Given the description of an element on the screen output the (x, y) to click on. 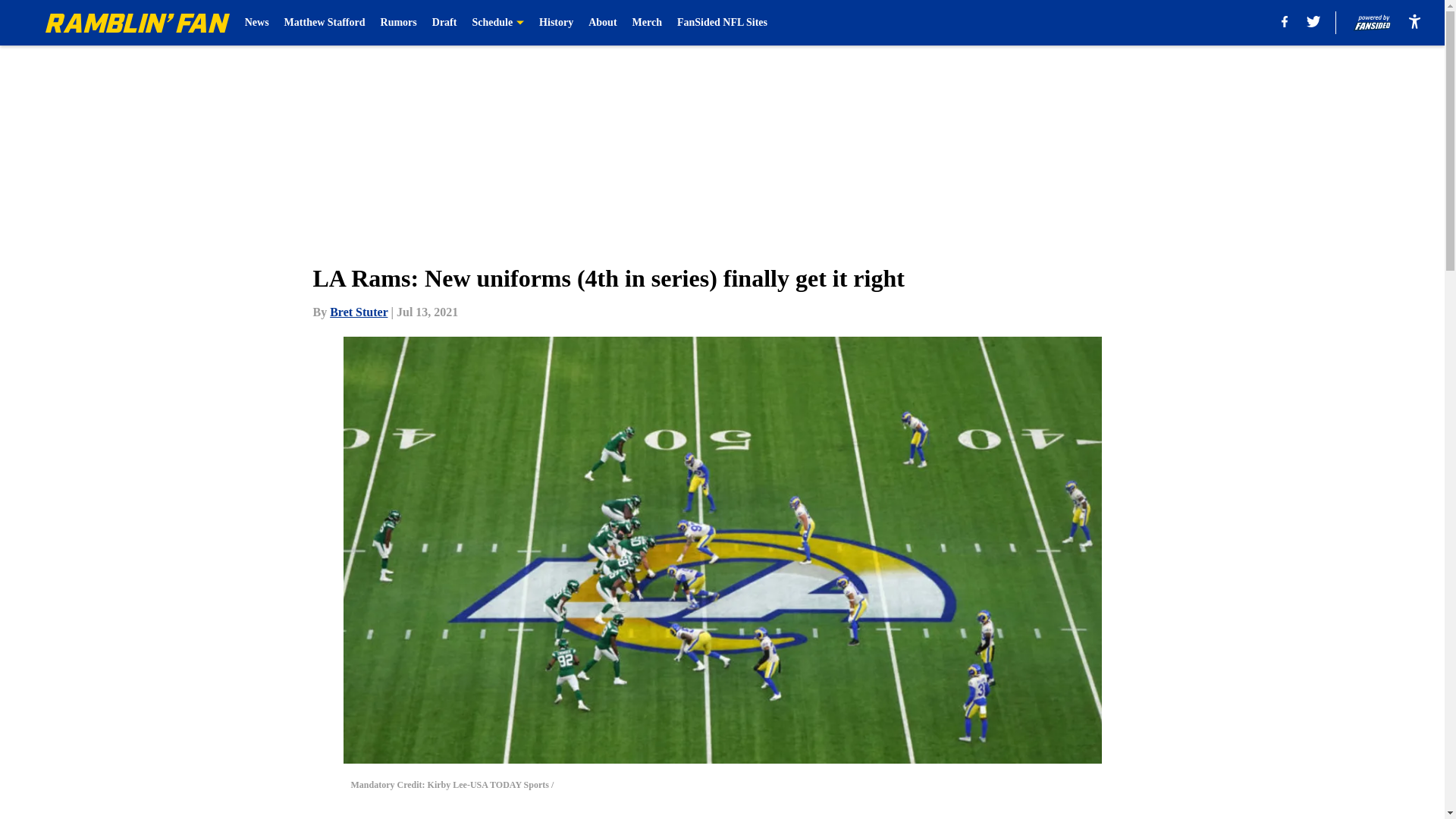
Merch (646, 22)
Bret Stuter (358, 311)
History (555, 22)
FanSided NFL Sites (722, 22)
Draft (444, 22)
Matthew Stafford (324, 22)
About (601, 22)
News (256, 22)
Rumors (398, 22)
